Given the description of an element on the screen output the (x, y) to click on. 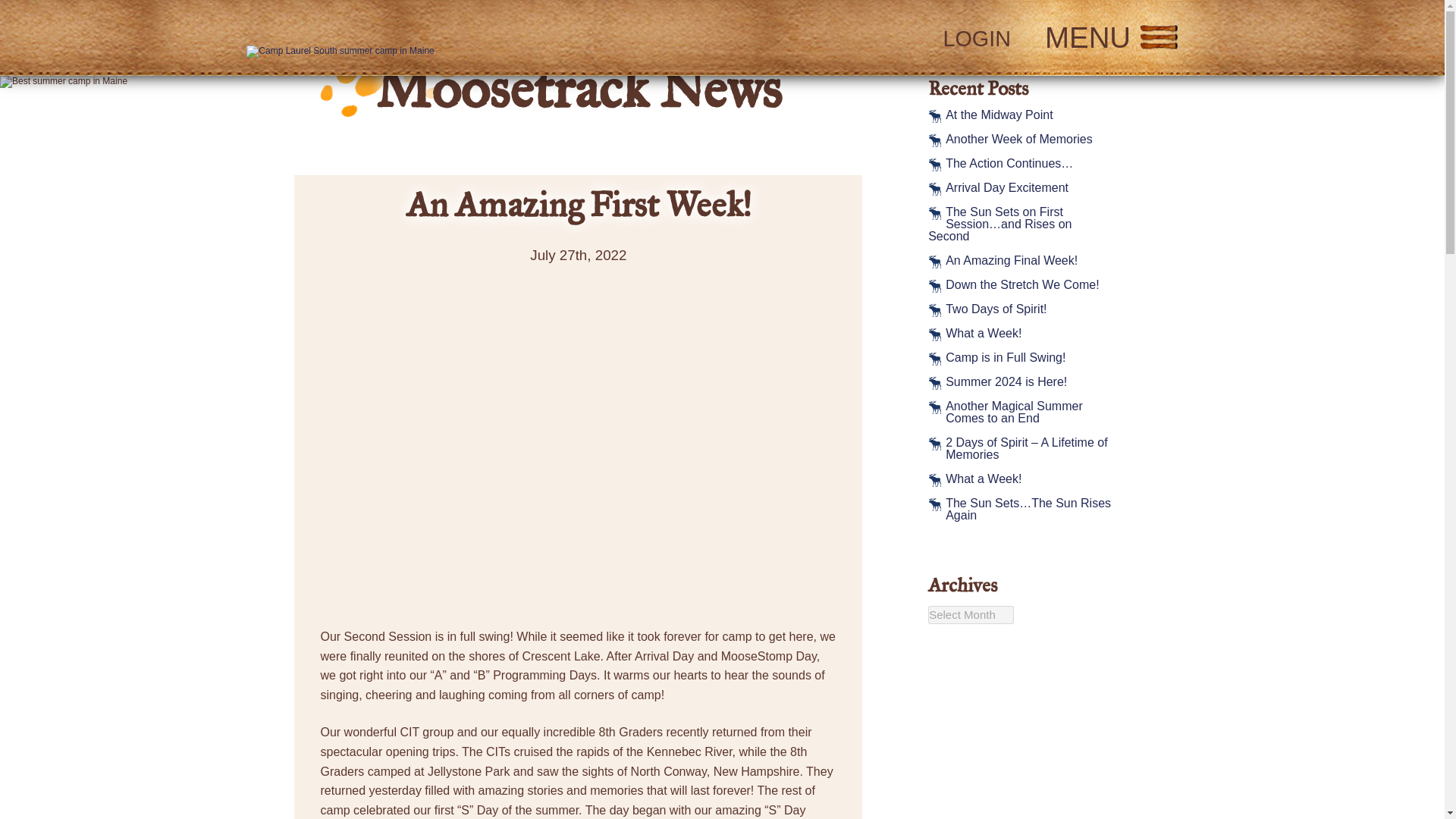
Log in to summer camp account (976, 38)
Camp Laurel South summer camp in Maine (339, 51)
LOGIN (976, 38)
Back to homepage (461, 38)
MENU (1111, 37)
